Given the description of an element on the screen output the (x, y) to click on. 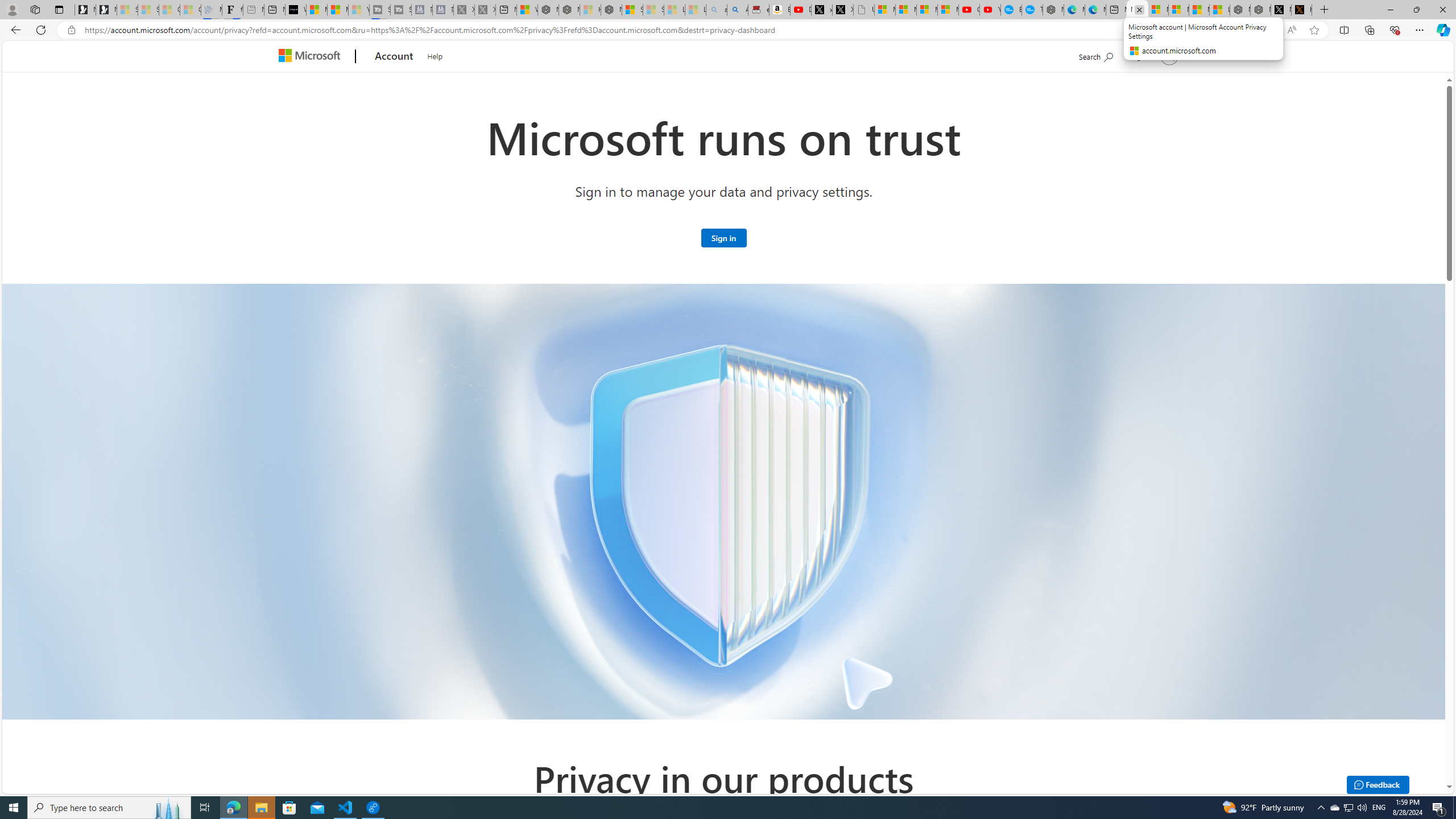
amazon - Search - Sleeping (716, 9)
What's the best AI voice generator? - voice.ai (296, 9)
help.x.com | 524: A timeout occurred (1301, 9)
Close tab (1139, 9)
Workspaces (34, 9)
Account (394, 56)
Nordace - Nordace Siena Is Not An Ordinary Backpack (610, 9)
Collections (1369, 29)
Sign in to your account (1153, 55)
Wildlife - MSN (527, 9)
Address and search bar (680, 29)
Tab actions menu (58, 9)
Search Microsoft.com (1095, 54)
